Given the description of an element on the screen output the (x, y) to click on. 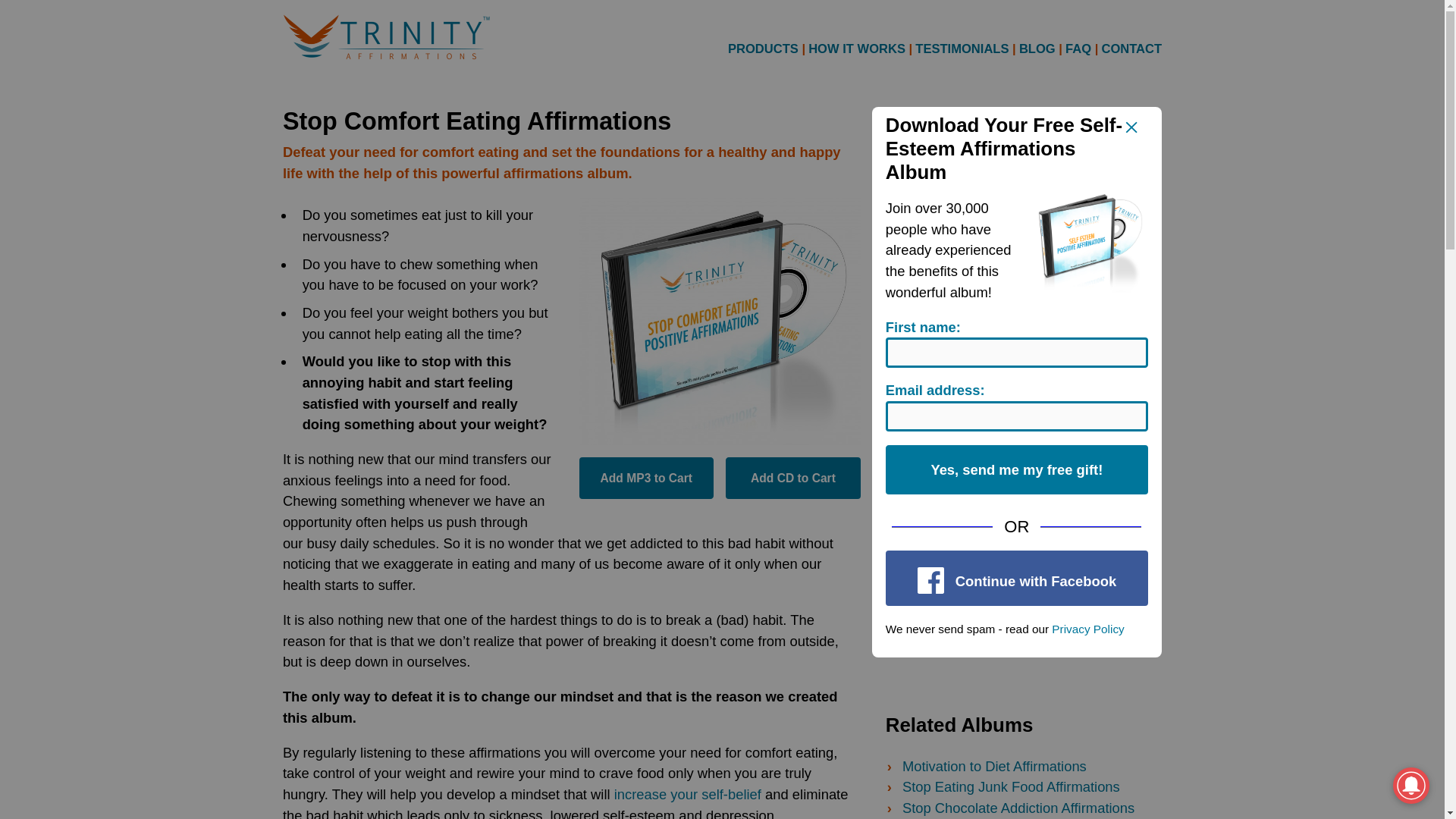
Yes, send me my free gift! (1016, 469)
Add MP3 to Cart (646, 477)
Add CD to Cart (792, 477)
PRODUCTS (762, 47)
FAQ (1077, 49)
increase your self-belief (687, 794)
BLOG (1037, 49)
TESTIMONIALS (962, 49)
Stop Chocolate Addiction Affirmations (1018, 807)
HOW IT WORKS (856, 49)
Privacy Policy (1087, 628)
Continue with Facebook (1016, 578)
Self Belief Affirmations (687, 794)
Stop Eating Junk Food Affirmations (1010, 786)
Motivation to Diet Affirmations (994, 765)
